Given the description of an element on the screen output the (x, y) to click on. 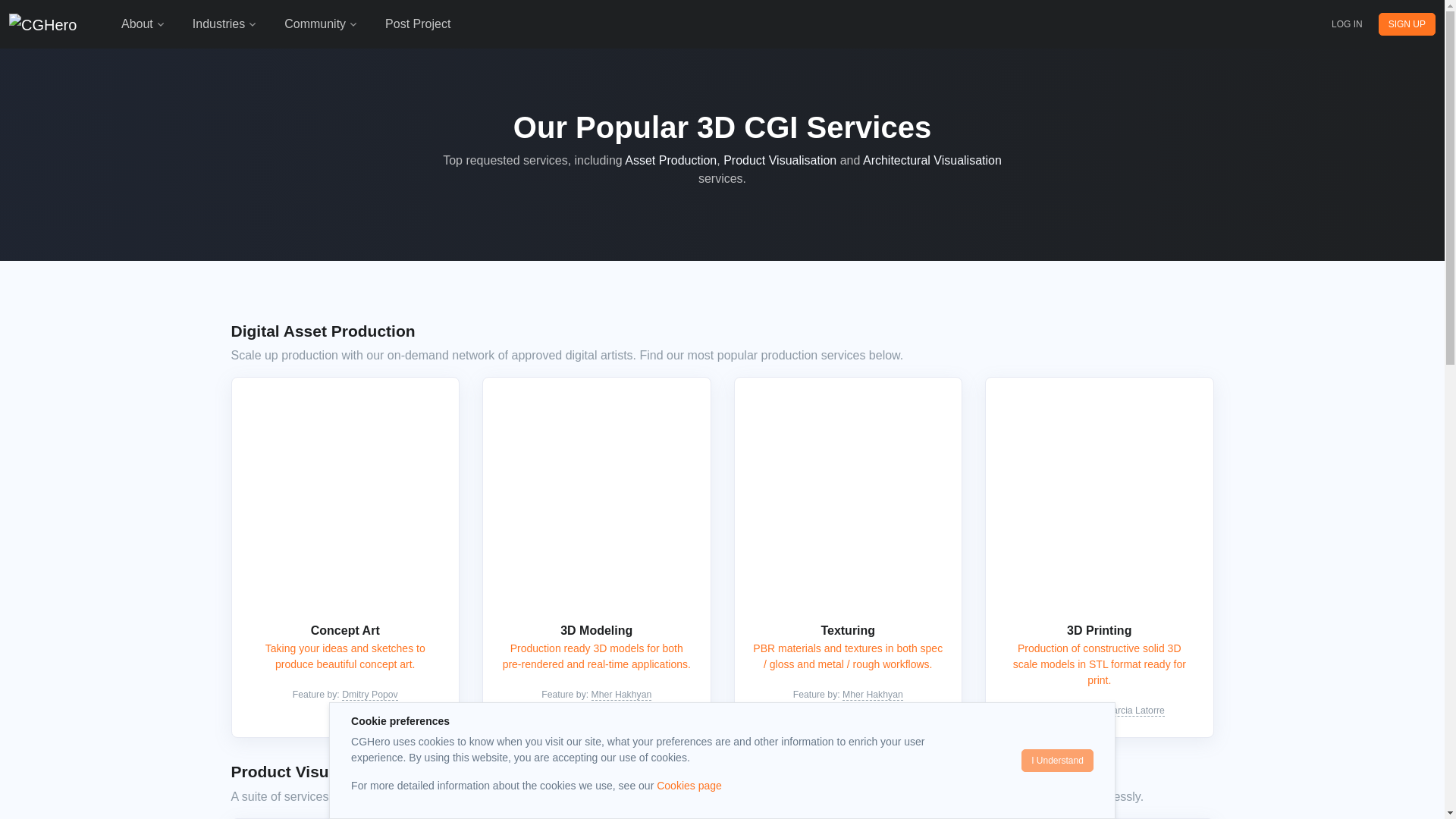
Product Visualisation (779, 160)
About (144, 24)
Asset Production (670, 160)
SIGN UP (1406, 24)
LOG IN (1347, 24)
Architectural Visualisation (932, 160)
Community (322, 24)
Post Project (417, 24)
Feature by: Dmitry Popov (344, 693)
